Given the description of an element on the screen output the (x, y) to click on. 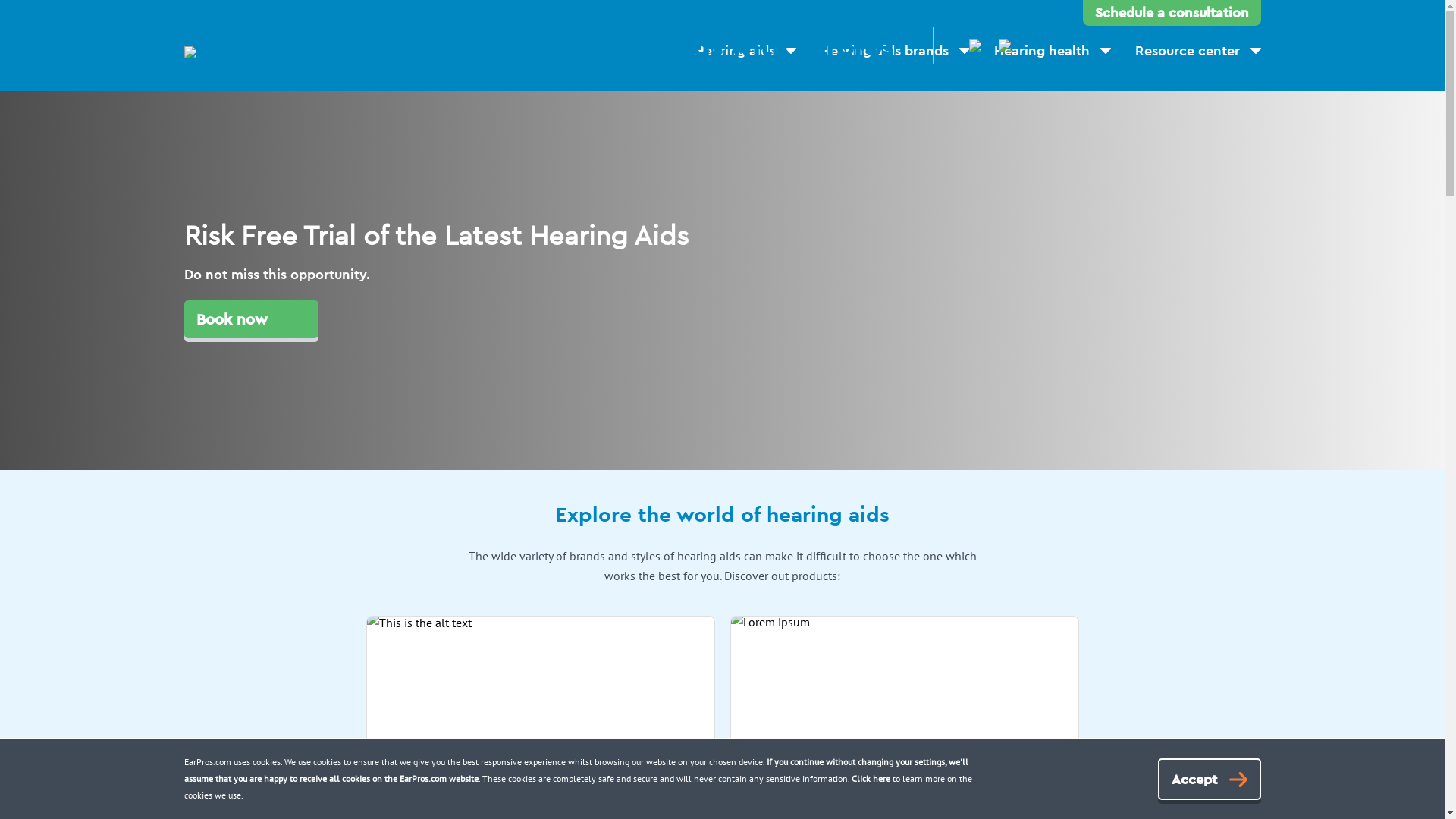
Schedule a consultation Element type: text (1171, 12)
Accept Element type: text (1208, 779)
Click here Element type: text (869, 778)
Book now Element type: text (250, 321)
